Given the description of an element on the screen output the (x, y) to click on. 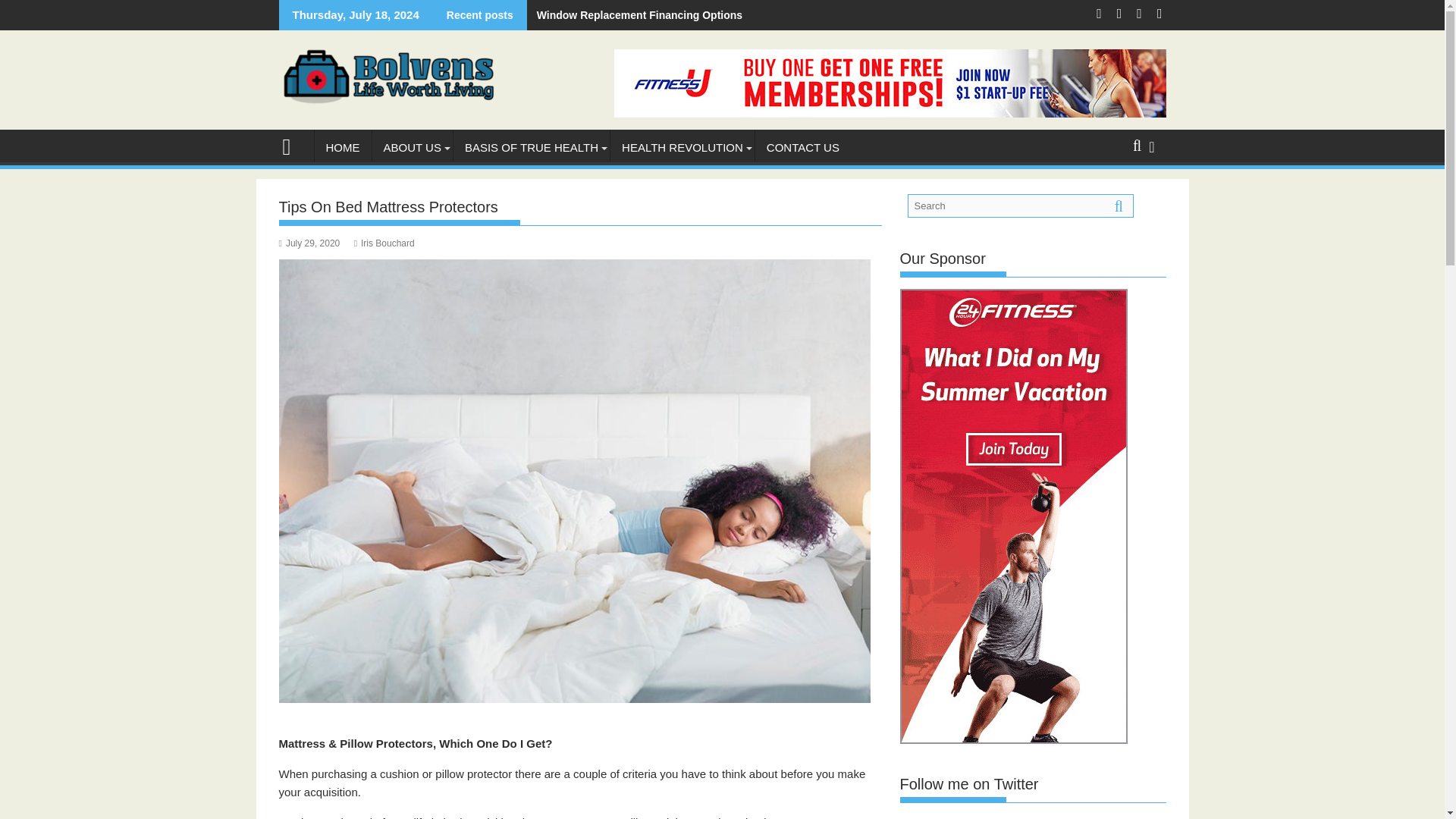
CONTACT US (802, 147)
BASIS OF TRUE HEALTH (531, 147)
HEALTH REVOLUTION (682, 147)
Window Replacement Financing Options (634, 15)
HOME (342, 147)
Window Replacement Financing Options (634, 15)
ABOUT US (411, 147)
